Given the description of an element on the screen output the (x, y) to click on. 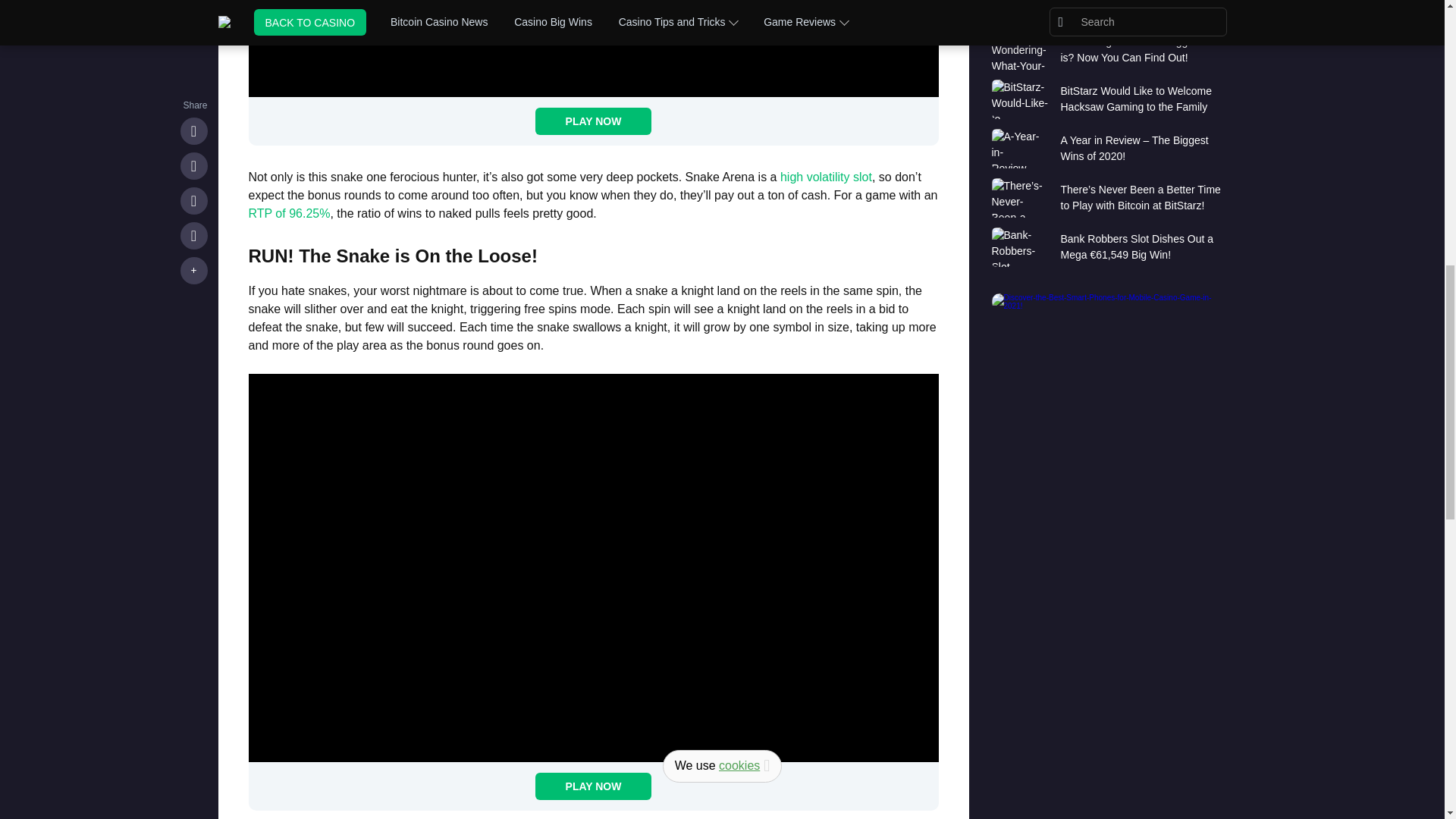
PLAY NOW (593, 121)
PLAY NOW (593, 121)
PLAY NOW (593, 786)
PLAY NOW (593, 786)
high volatility slot (826, 176)
